Given the description of an element on the screen output the (x, y) to click on. 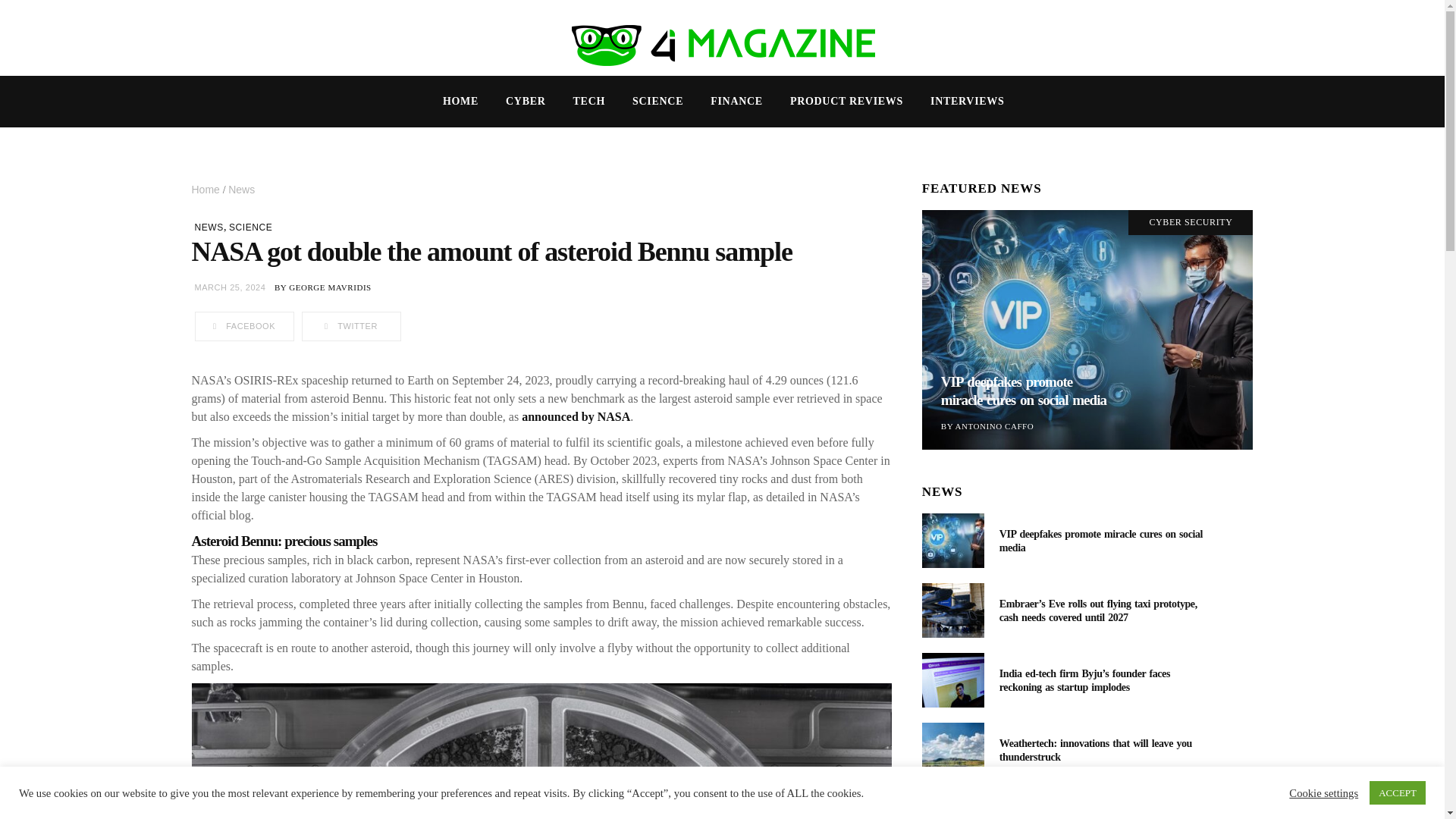
HOME (460, 101)
VIP deepfakes promote miracle cures on social media (952, 540)
SCIENCE (250, 226)
SCIENCE (657, 101)
Weathertech: innovations that will leave you thunderstruck (952, 749)
FINANCE (736, 101)
INTERVIEWS (967, 101)
PRODUCT REVIEWS (846, 101)
News (241, 189)
VIP deepfakes promote miracle cures on social media (1100, 540)
Home (206, 189)
NEWS (207, 226)
VIP deepfakes promote miracle cures on social media (1087, 329)
MARCH 25, 2024 (228, 286)
CYBER (525, 101)
